Given the description of an element on the screen output the (x, y) to click on. 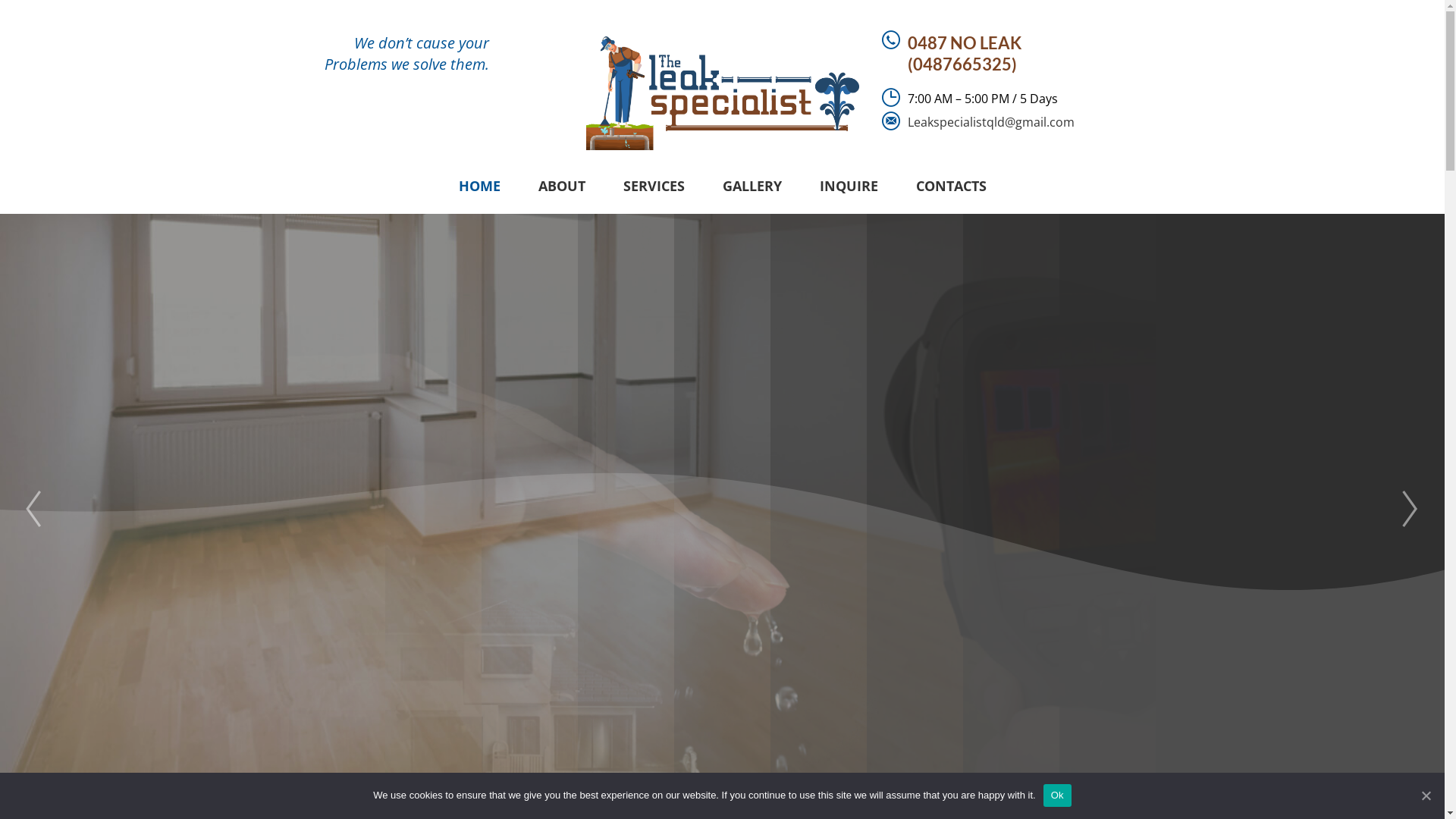
GALLERY Element type: text (751, 185)
INQUIRE Element type: text (848, 185)
CONTACTS Element type: text (950, 185)
INQUIRE NOW Element type: text (722, 618)
Leakspecialistqld@gmail.com Element type: text (989, 121)
ABOUT Element type: text (560, 185)
HOME Element type: text (479, 185)
SERVICES Element type: text (652, 185)
Ok Element type: text (1057, 795)
